Given the description of an element on the screen output the (x, y) to click on. 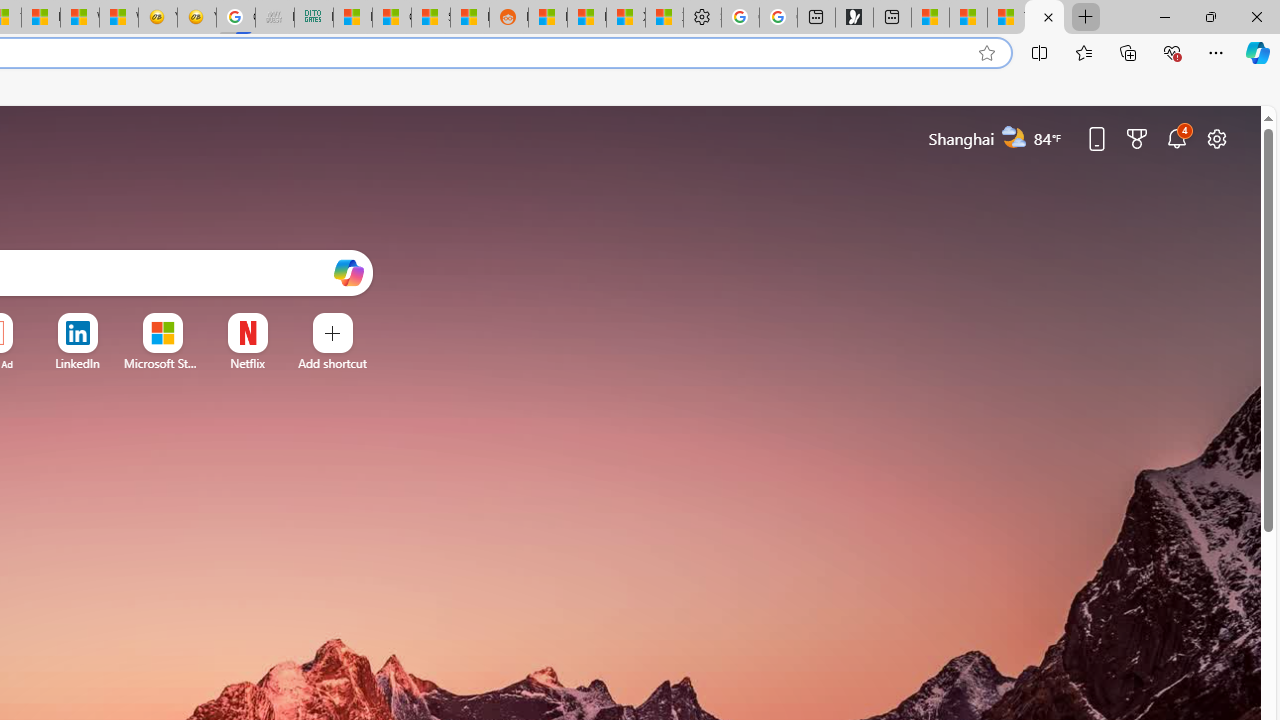
LinkedIn (77, 363)
Netflix (247, 363)
Fitness - MSN (40, 17)
MSN (469, 17)
Navy Quest (275, 17)
These 3 Stocks Pay You More Than 5% to Own Them (1006, 17)
